Given the description of an element on the screen output the (x, y) to click on. 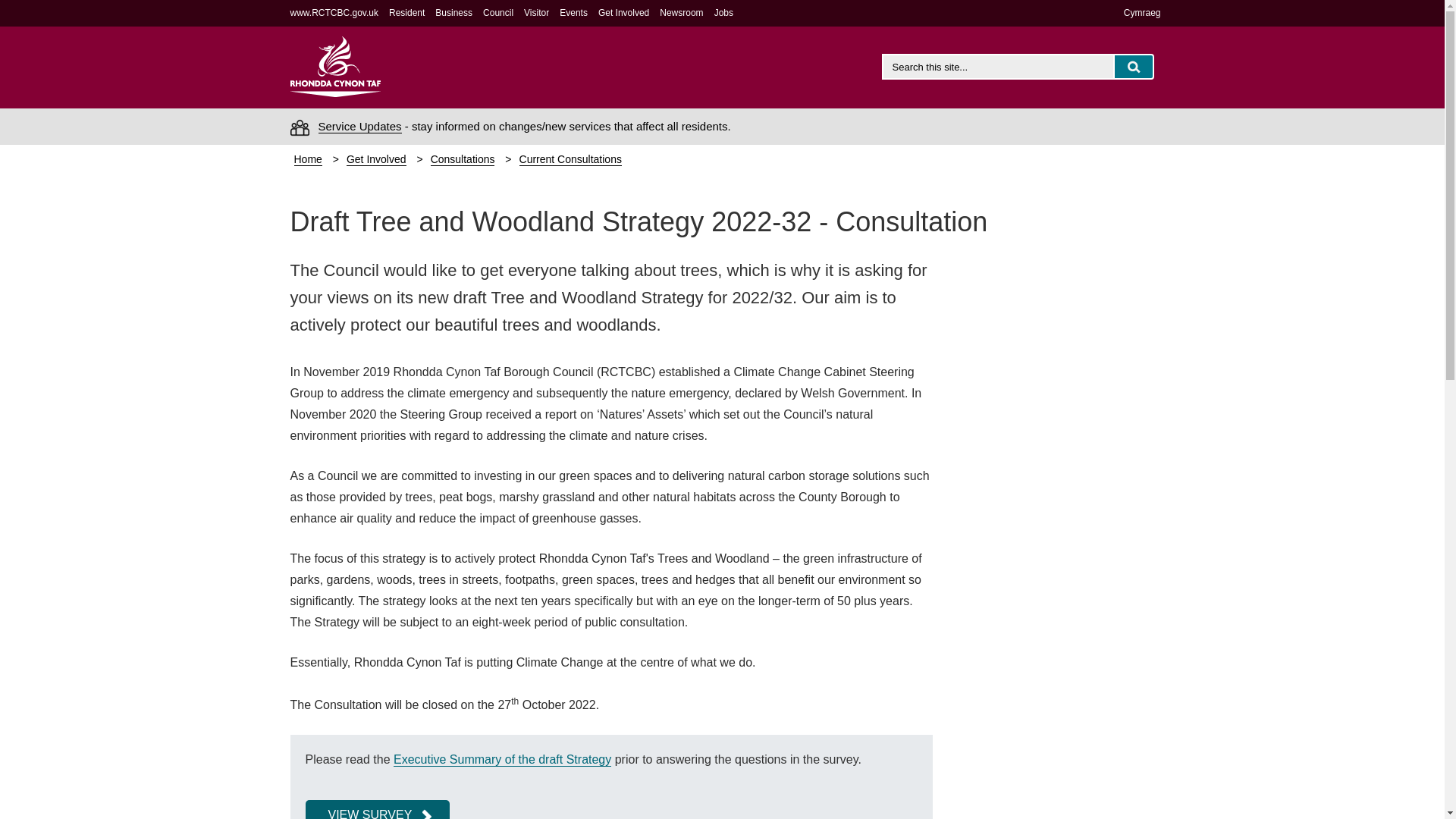
Events (573, 12)
Resident (406, 12)
Council (497, 12)
Consultations (462, 159)
Executive Summary of the draft Strategy (502, 759)
Home (307, 159)
VIEW SURVEY (376, 809)
www.RCTCBC.gov.uk (335, 12)
Jobs (723, 12)
Go (1133, 66)
